Given the description of an element on the screen output the (x, y) to click on. 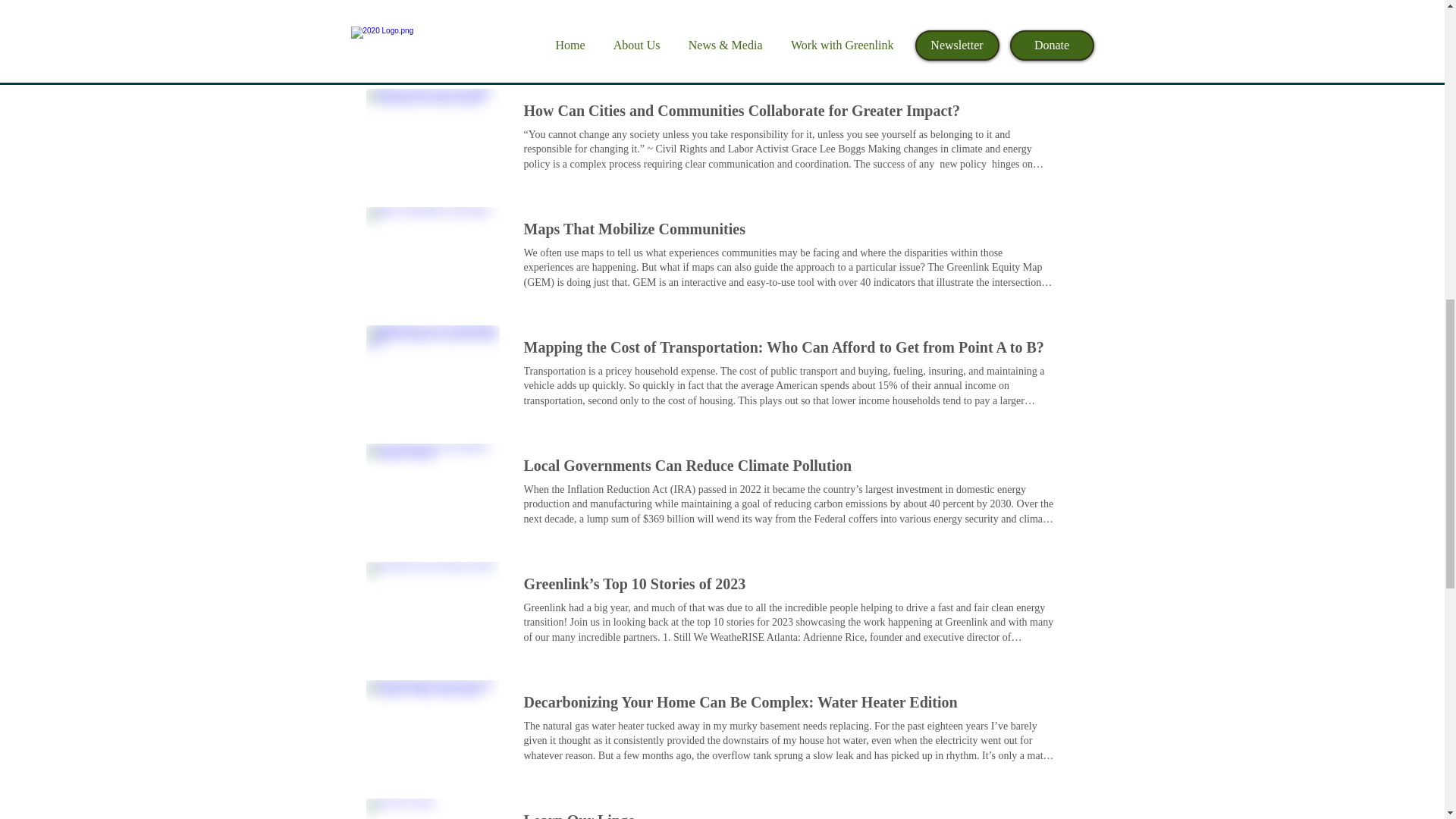
Decarbonizing Your Home Can Be Complex: Water Heater Edition (739, 701)
Maps That Mobilize Communities (432, 254)
Learn Our Lingo (578, 814)
Maps That Mobilize Communities (633, 228)
Local Governments Can Reduce Climate Pollution (686, 465)
Maps That Mobilize Communities (633, 228)
Local Governments Can Reduce Climate Pollution (686, 465)
Local Governments Can Reduce Climate Pollution (432, 490)
